Given the description of an element on the screen output the (x, y) to click on. 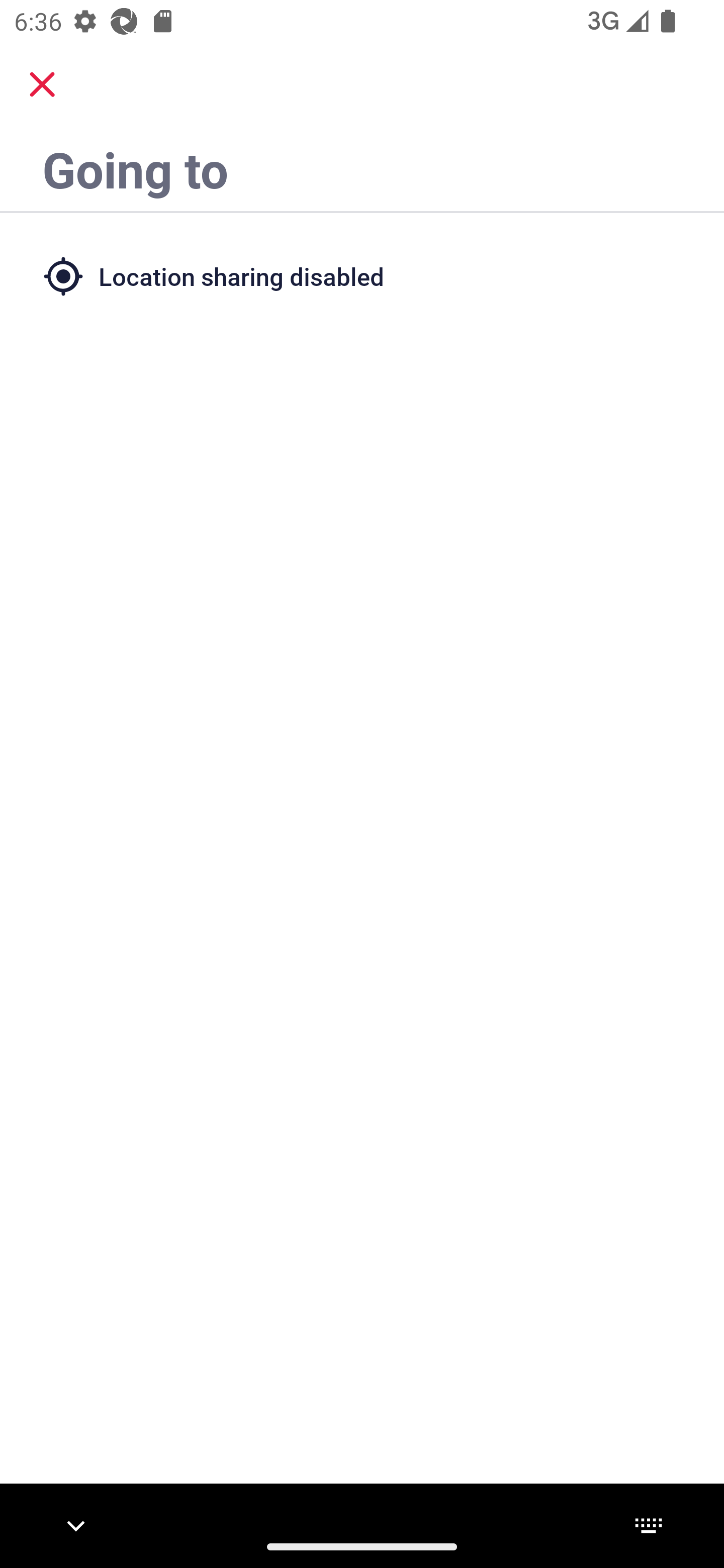
close. (42, 84)
Location sharing disabled (362, 275)
